Given the description of an element on the screen output the (x, y) to click on. 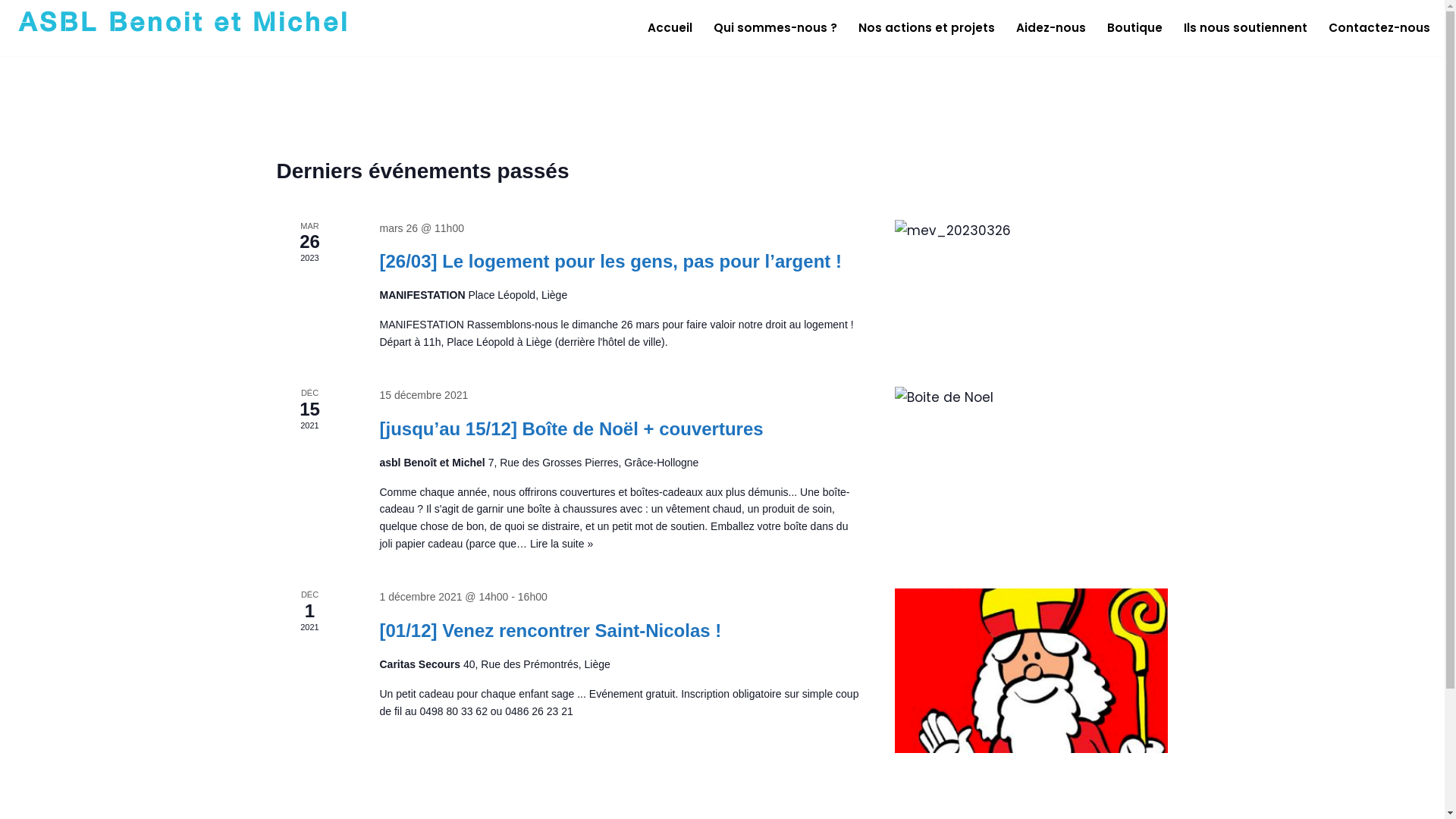
ASBL Benoit et Michel Element type: text (183, 28)
Nos actions et projets Element type: text (926, 27)
Aidez-nous Element type: text (1050, 27)
Accueil Element type: text (669, 27)
[01/12] Venez rencontrer Saint-Nicolas ! Element type: hover (1030, 670)
Qui sommes-nous ? Element type: text (775, 27)
Aller au contenu Element type: text (11, 31)
Boutique Element type: text (1134, 27)
Ils nous soutiennent Element type: text (1245, 27)
[01/12] Venez rencontrer Saint-Nicolas ! Element type: text (550, 630)
Contactez-nous Element type: text (1379, 27)
